Given the description of an element on the screen output the (x, y) to click on. 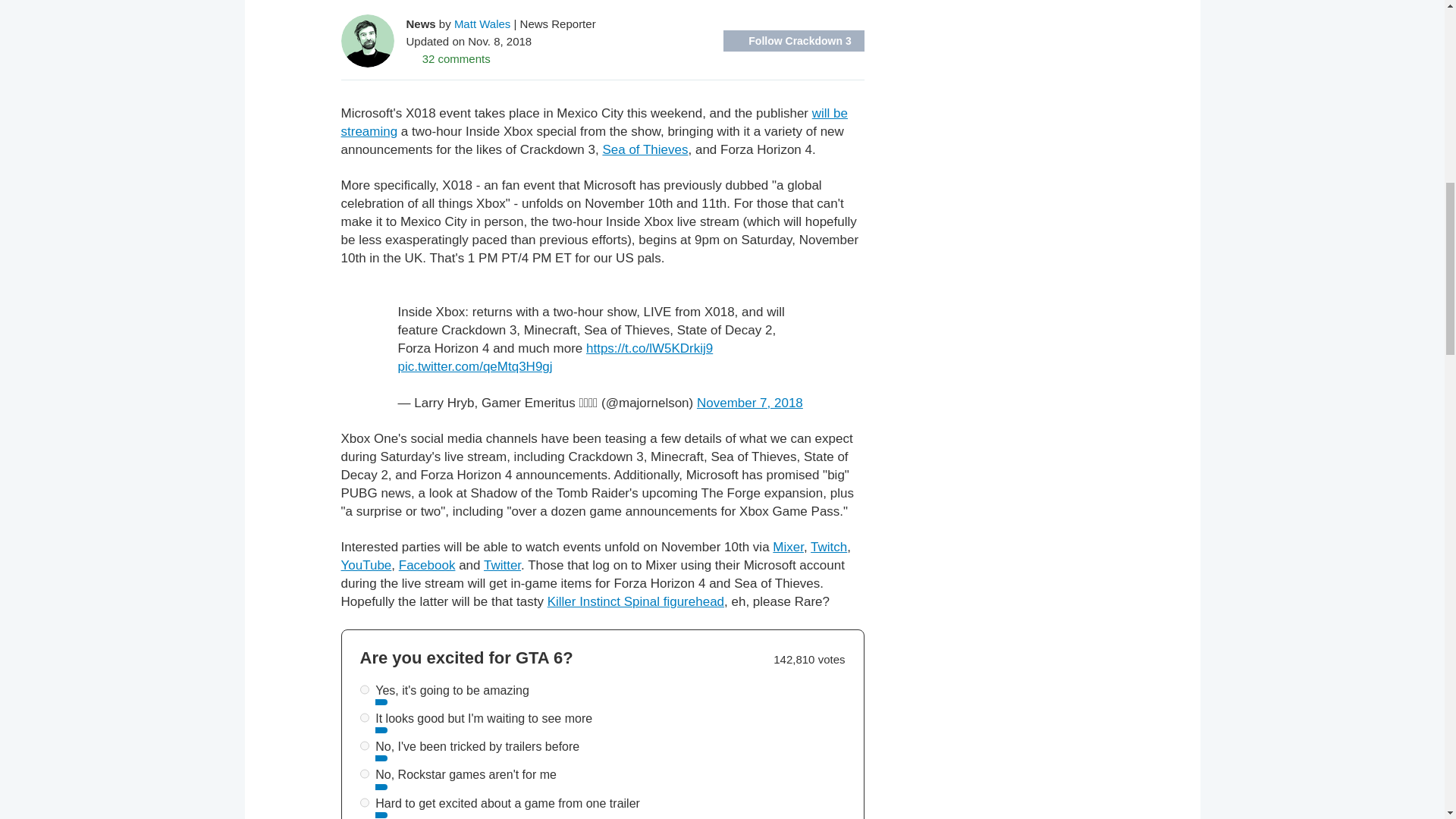
on (364, 689)
Matt Wales (482, 22)
Mixer (788, 546)
Follow Crackdown 3 (793, 40)
32 comments (448, 57)
Follow Crackdown 3 (793, 40)
Twitter (502, 564)
on (364, 717)
YouTube (365, 564)
Facebook (426, 564)
